Given the description of an element on the screen output the (x, y) to click on. 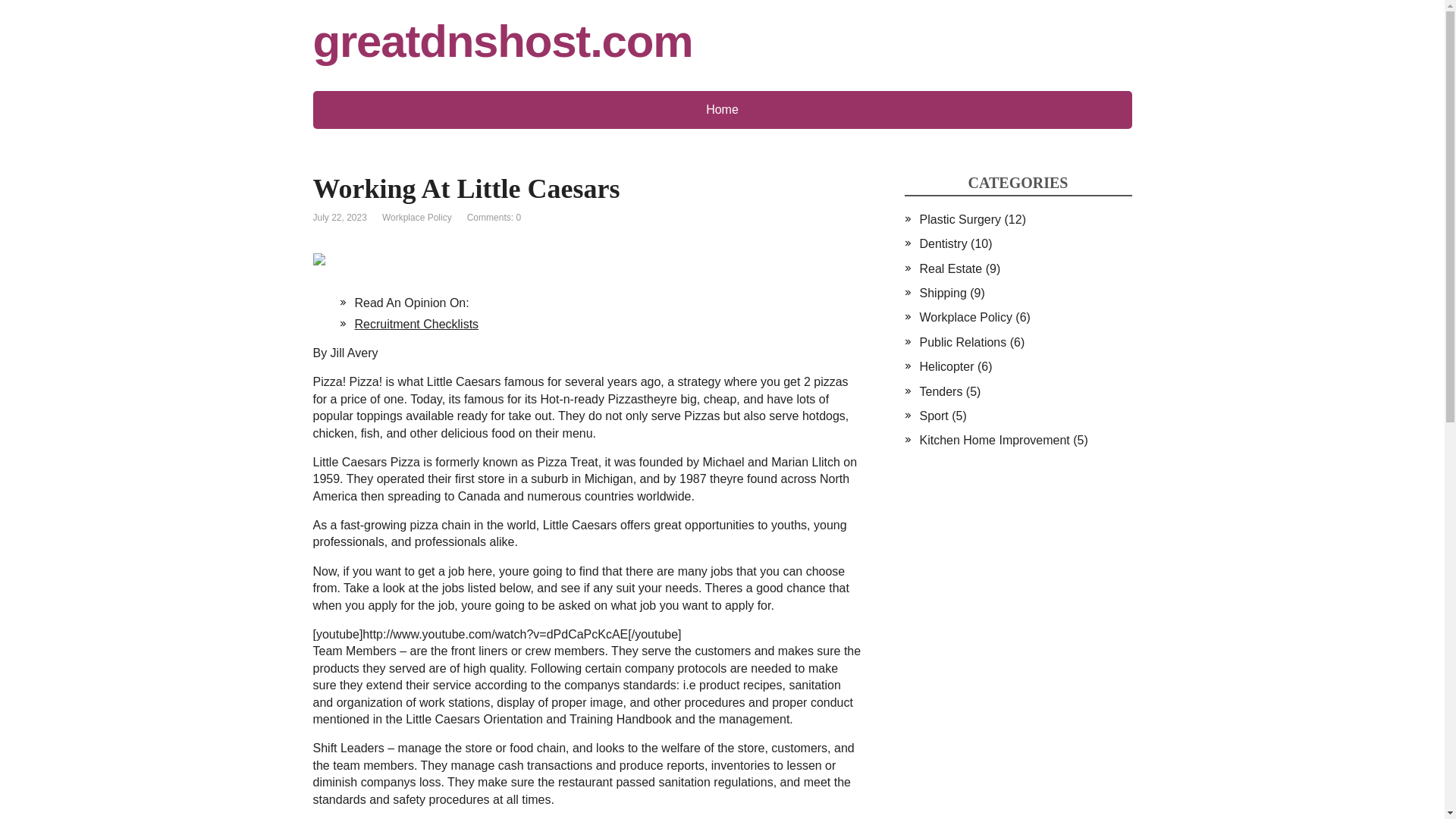
Workplace Policy (416, 217)
Comments: 0 (494, 217)
Home (722, 109)
Recruitment Checklists (417, 323)
greatdnshost.com (722, 41)
